Given the description of an element on the screen output the (x, y) to click on. 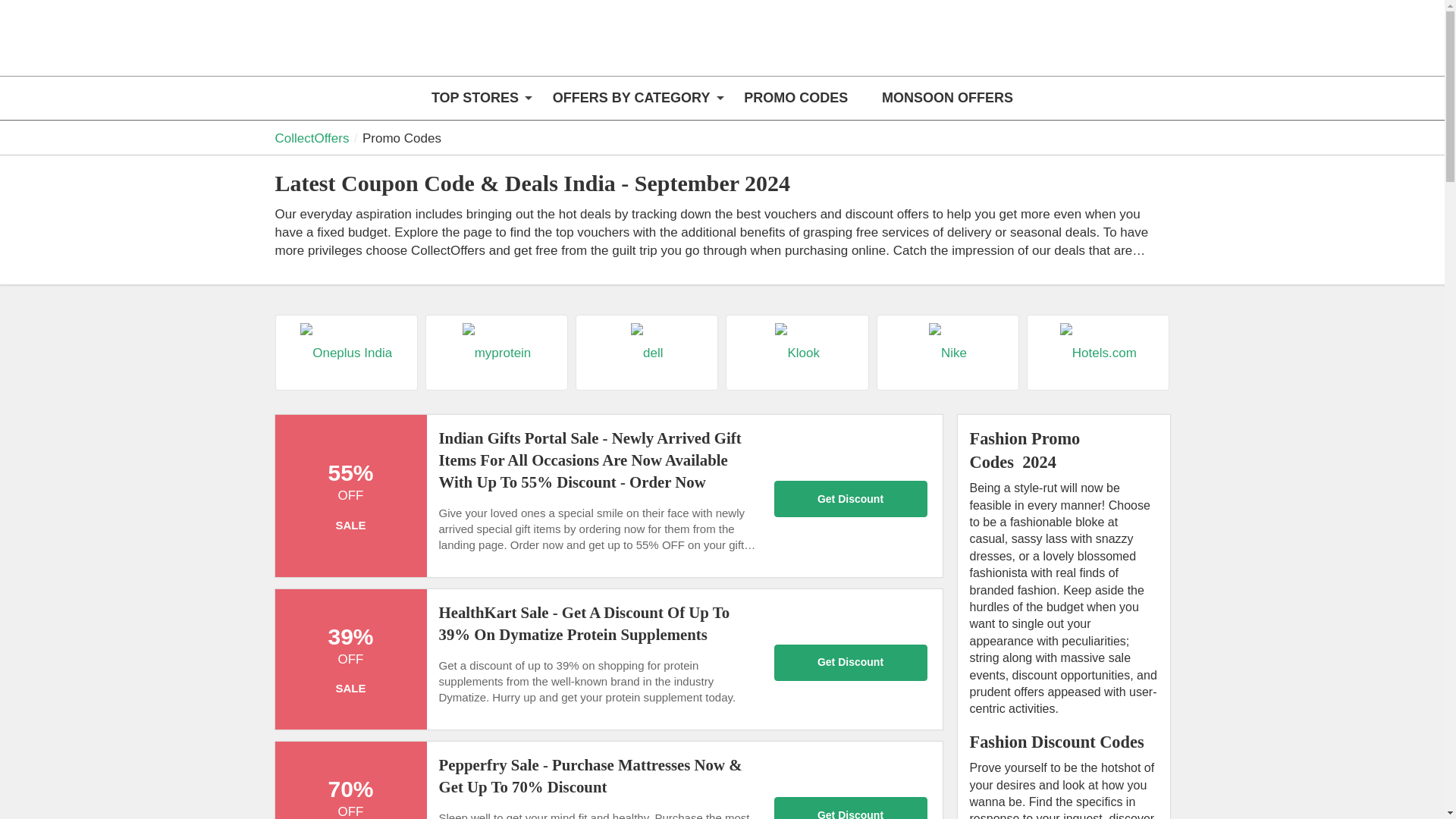
CollectOffers (369, 47)
OFFERS BY CATEGORY (631, 97)
TOP STORES (474, 97)
